Given the description of an element on the screen output the (x, y) to click on. 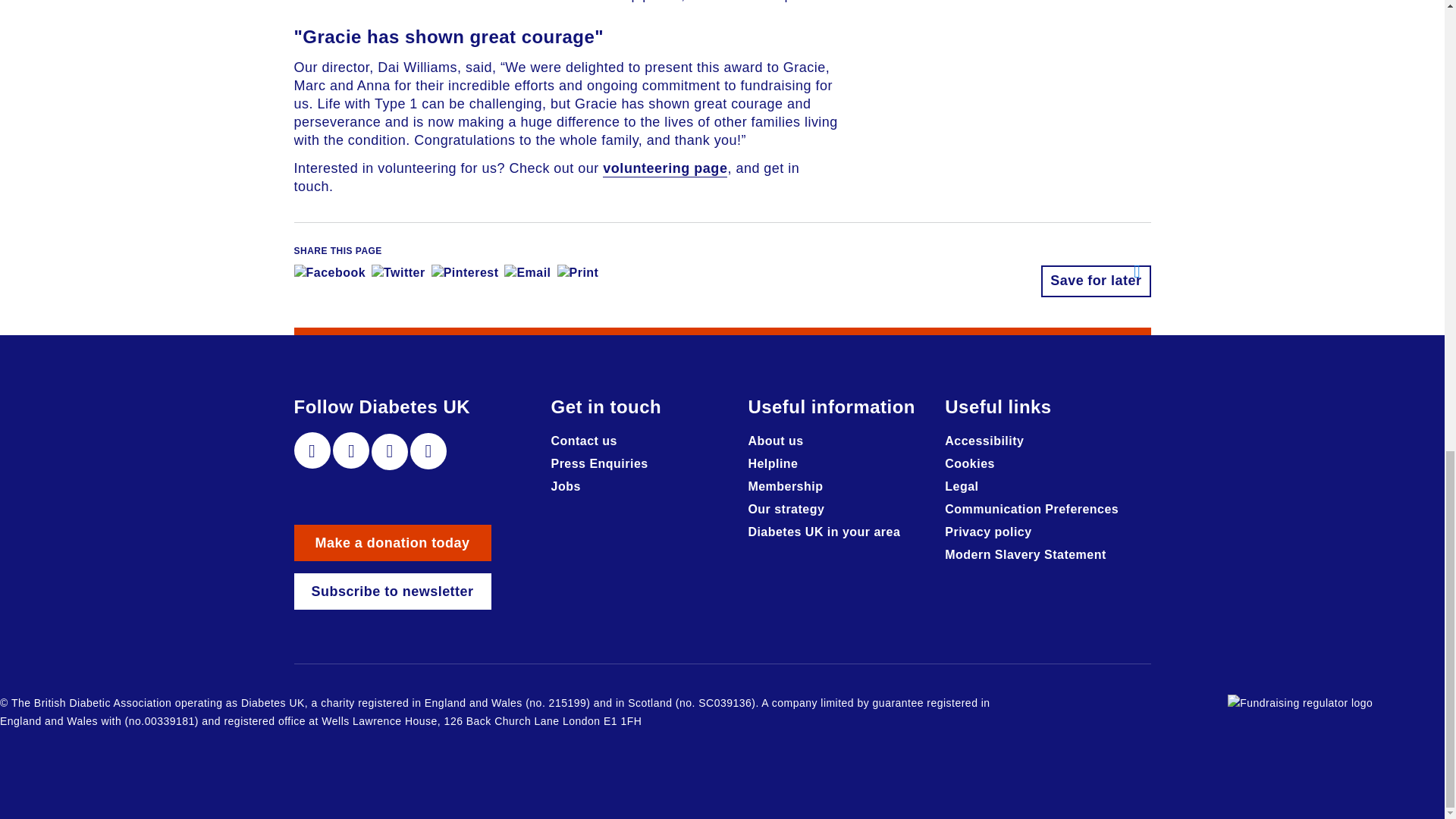
volunteering page (664, 168)
